Given the description of an element on the screen output the (x, y) to click on. 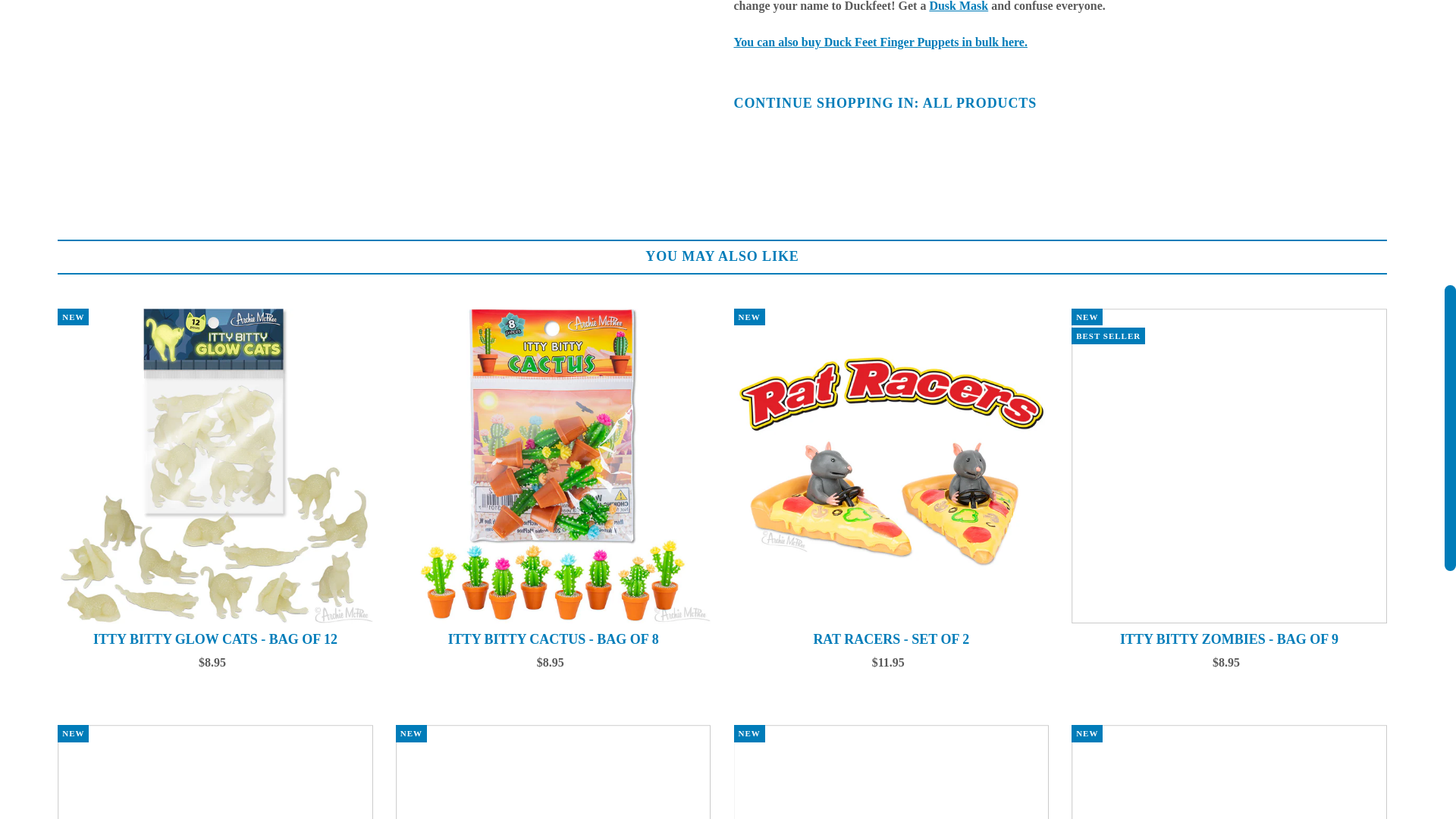
Duck Feet Finger Puppets (880, 42)
Itty Bitty Zombies - Bag of 9 (1229, 466)
Glow-in-the-Dark Itty Bitty Celery - Bag of 8 (215, 771)
Itty Bitty Vampires - Bag of 9 (553, 771)
Itty Bitty Cats - Bag of 12 (891, 771)
Enchanted Snail Air Freshener (1229, 771)
Itty Bitty Cactus - Bag of 8 (553, 466)
Itty Bitty Glow Cats - Bag of 12 (215, 466)
Rat Racers - Set of 2 (891, 466)
